Given the description of an element on the screen output the (x, y) to click on. 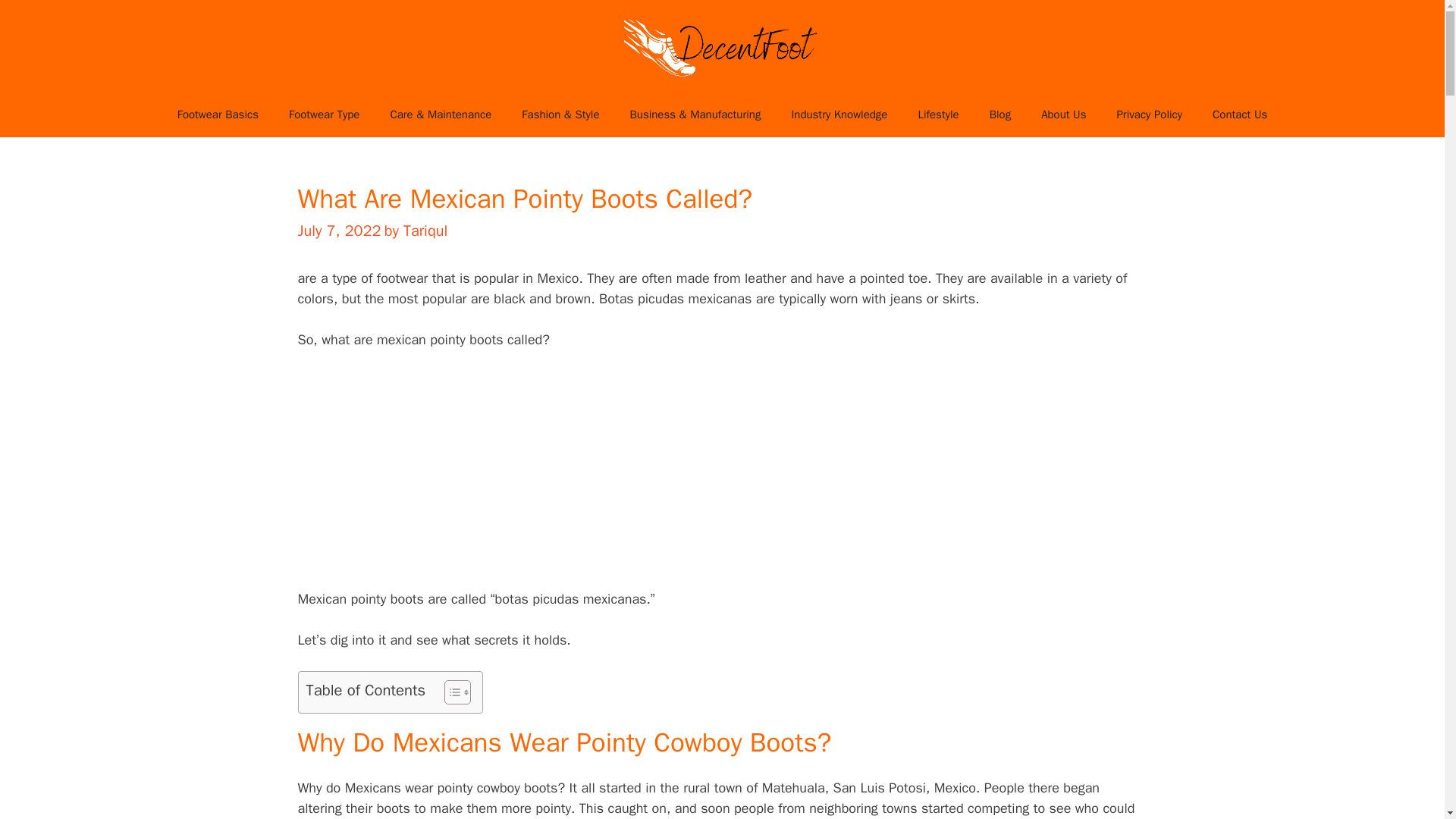
Privacy Policy (1148, 114)
View all posts by Tariqul (424, 230)
Industry Knowledge (839, 114)
Blog (1000, 114)
Lifestyle (938, 114)
Tariqul (424, 230)
Footwear Type (323, 114)
Contact Us (1239, 114)
Footwear Basics (217, 114)
About Us (1063, 114)
